Given the description of an element on the screen output the (x, y) to click on. 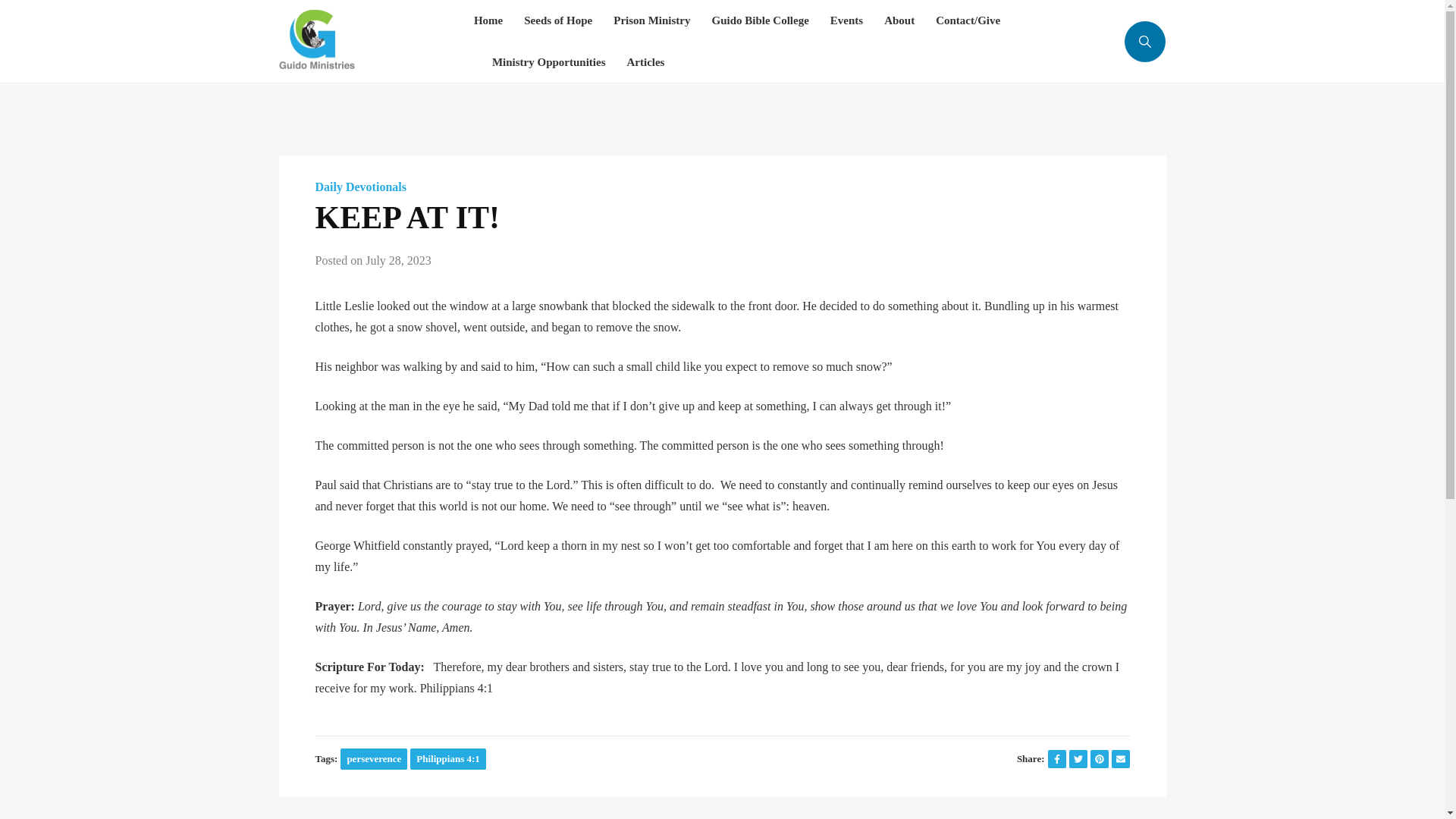
Daily Devotionals (360, 186)
Search (1111, 120)
Philippians 4:1 (447, 758)
Ministry Opportunities (548, 61)
perseverence (373, 758)
Prison Ministry (651, 20)
Guido Bible College (759, 20)
Articles (644, 61)
Seeds of Hope (558, 20)
